Given the description of an element on the screen output the (x, y) to click on. 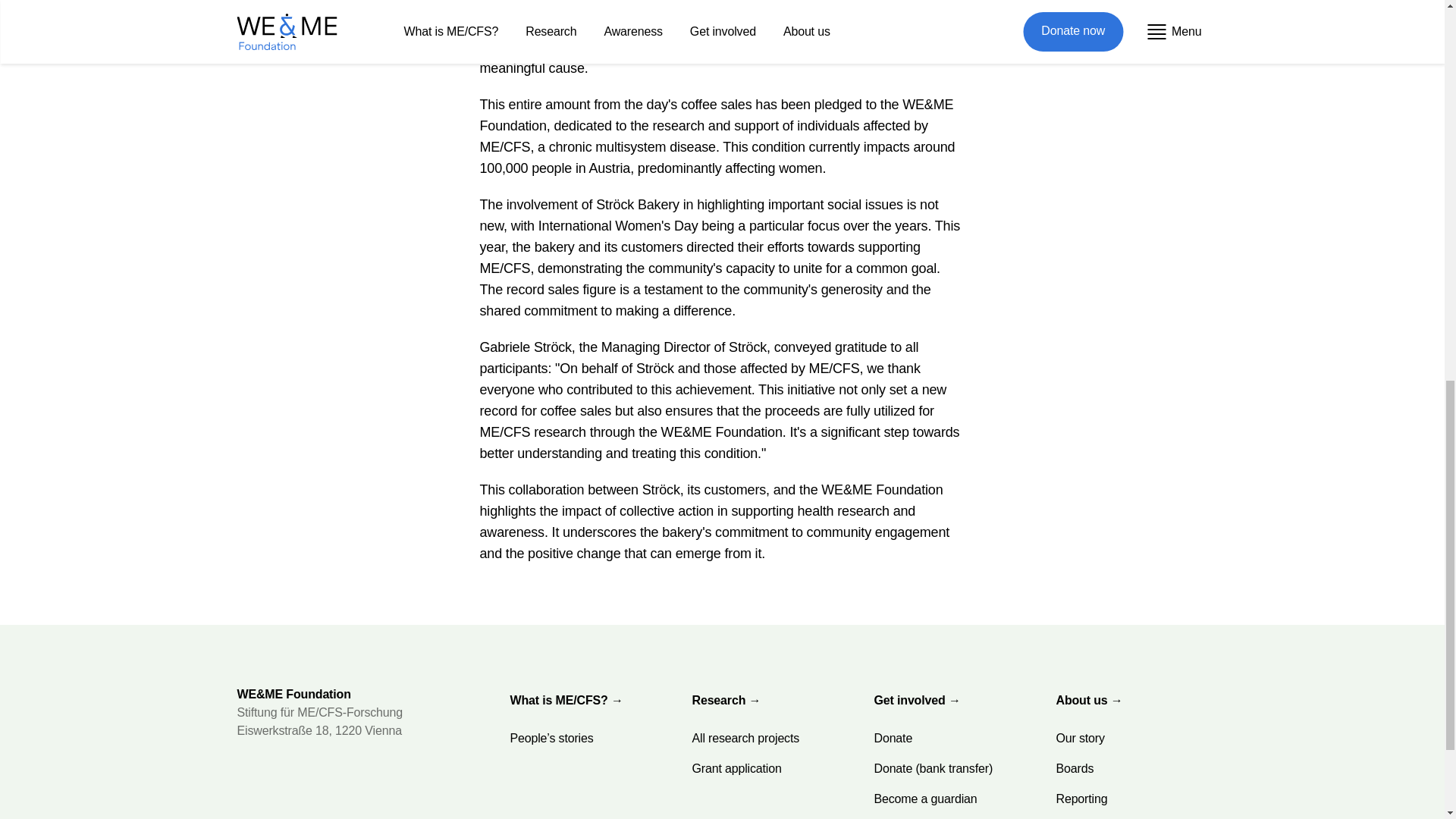
All research projects (745, 738)
Become a guardian (924, 798)
Boards (1074, 768)
Contact (1075, 816)
Grant application (735, 768)
Awareness (902, 816)
Donate (892, 738)
Reporting (1080, 798)
Our story (1079, 738)
